Given the description of an element on the screen output the (x, y) to click on. 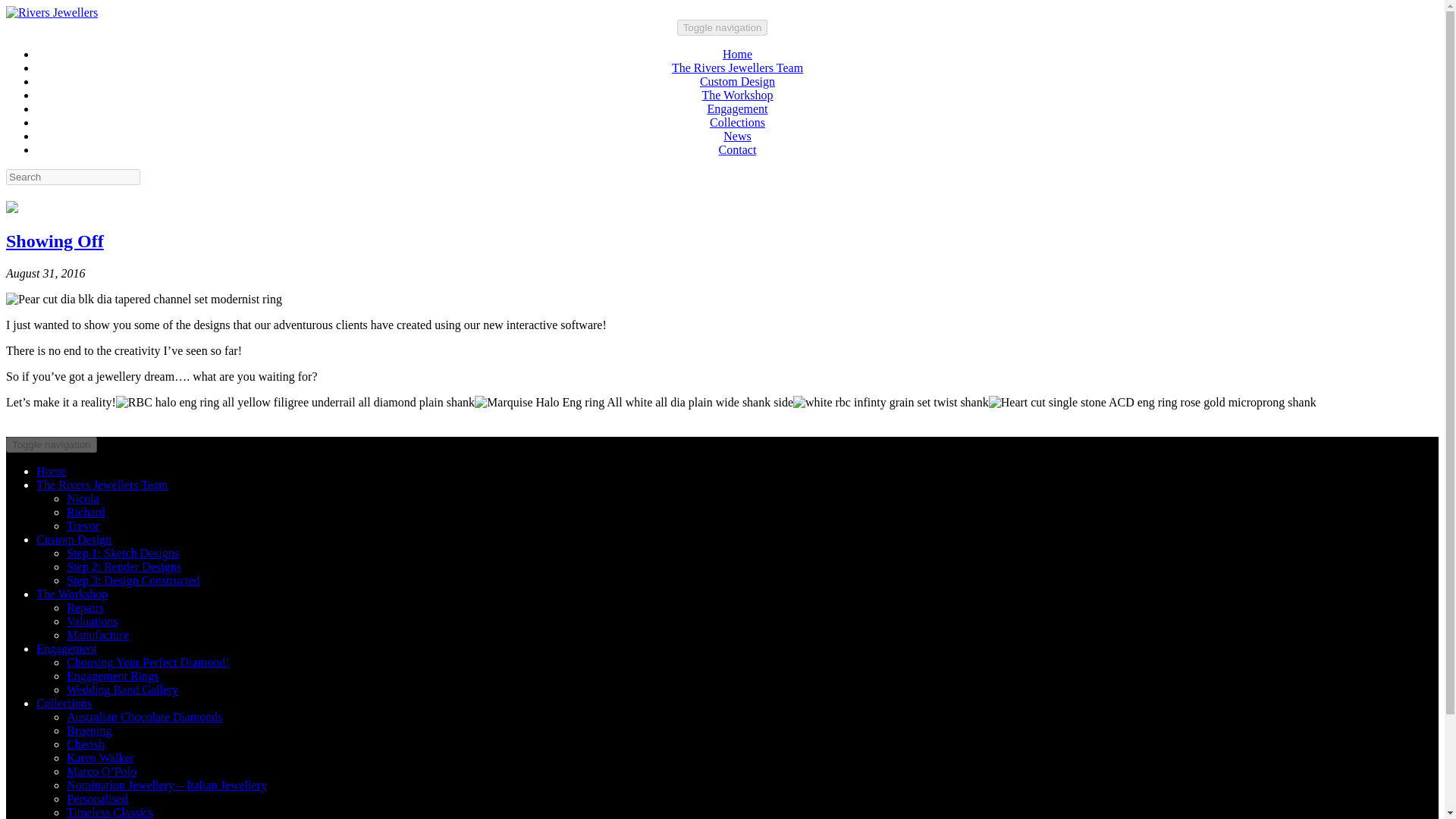
Custom Design (74, 539)
Collections (63, 703)
News (737, 135)
Trevor (82, 525)
The Workshop (737, 94)
Engagement Rings (112, 675)
Richard (85, 512)
Bruening (89, 730)
Engagement (66, 648)
Wedding Band Gallery (121, 689)
Nicola (82, 498)
The Rivers Jewellers Team (737, 67)
Repairs (84, 607)
Valuations (91, 621)
Timeless Classics (109, 812)
